Given the description of an element on the screen output the (x, y) to click on. 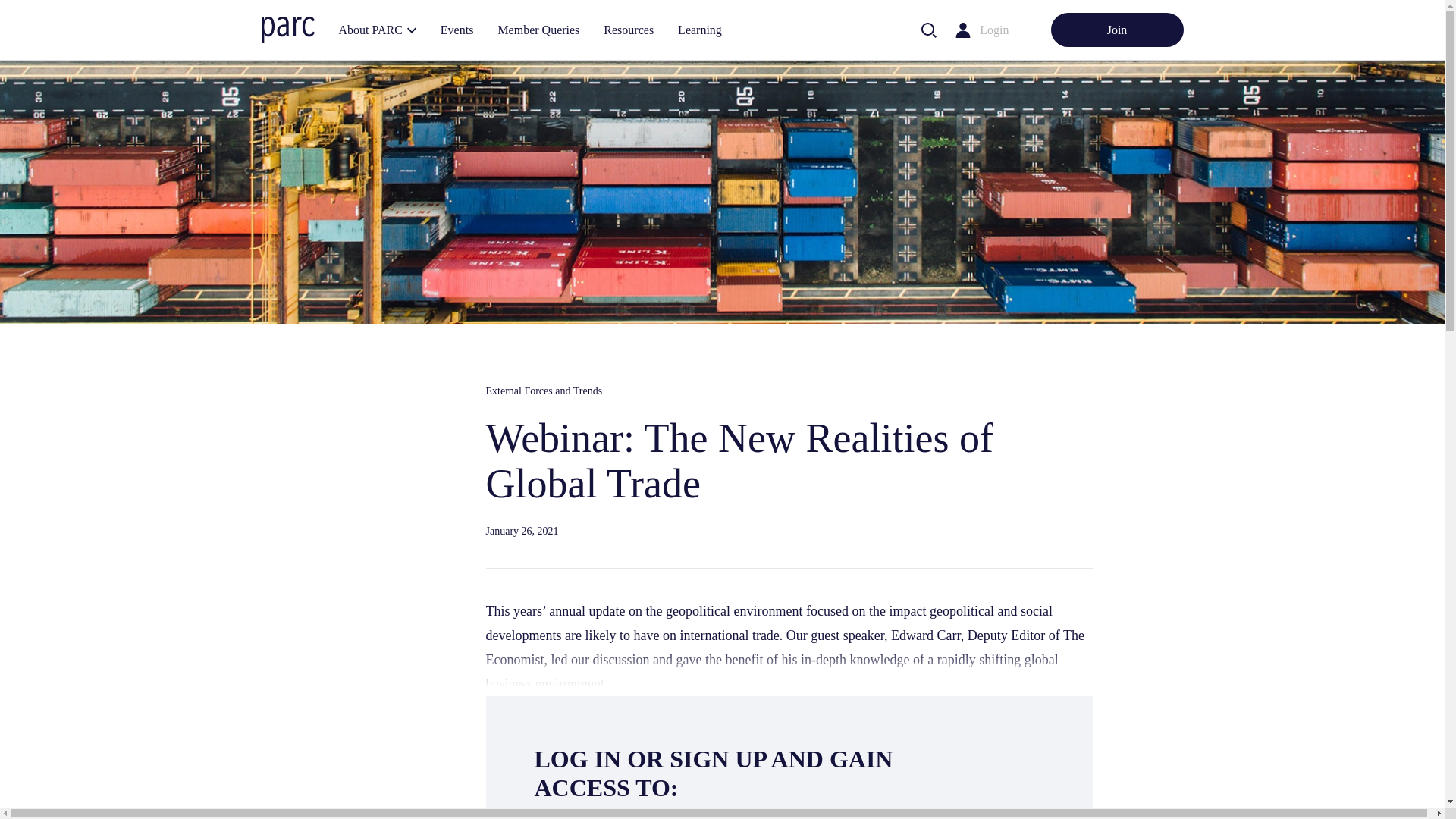
Events (457, 30)
Learning (699, 30)
Login (994, 29)
Resources (628, 30)
Member Queries (537, 30)
About PARC (377, 30)
Join (1117, 29)
